Given the description of an element on the screen output the (x, y) to click on. 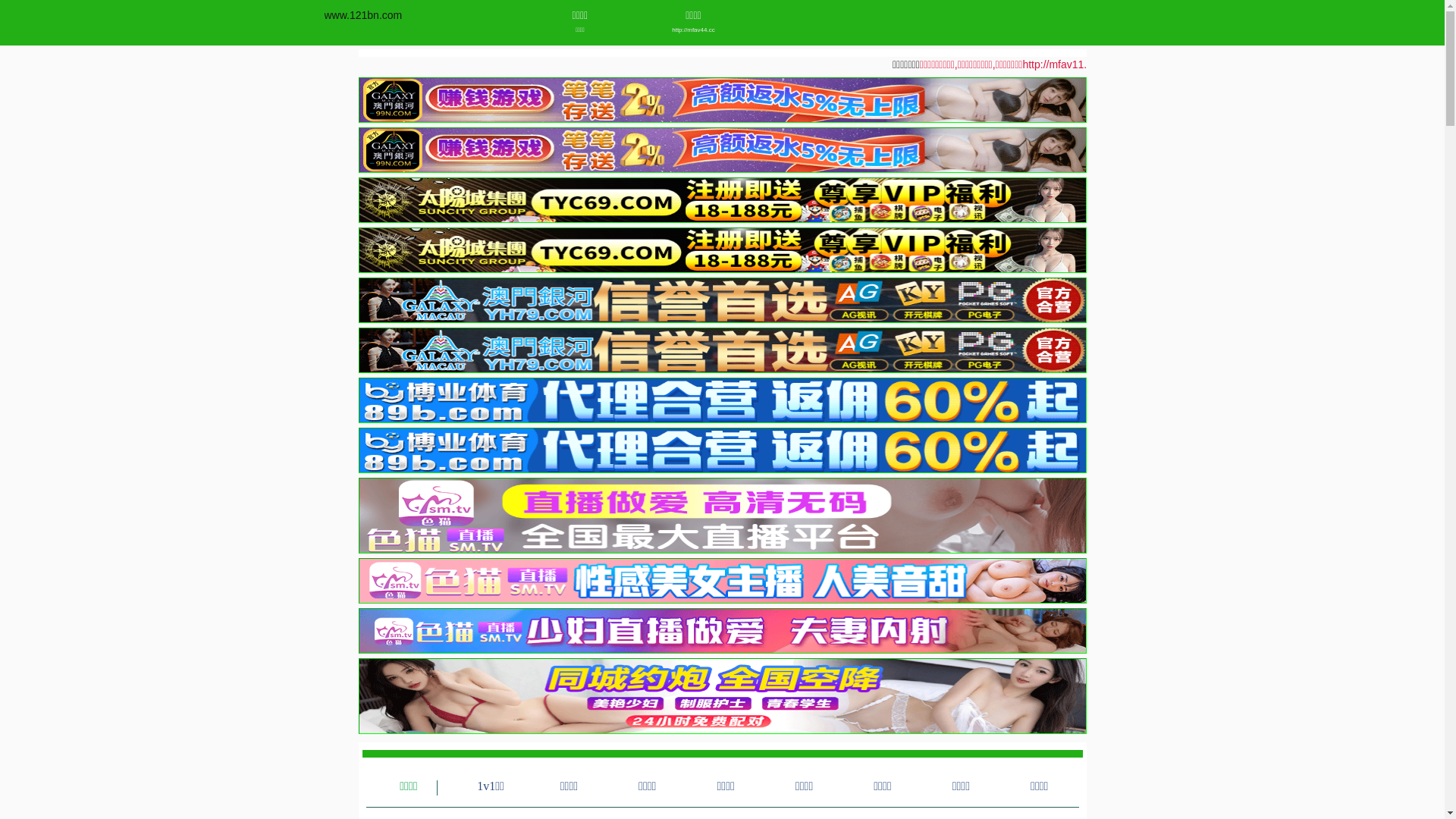
http://mfav44.cc Element type: text (693, 29)
www.121bn.com Element type: text (363, 15)
